Given the description of an element on the screen output the (x, y) to click on. 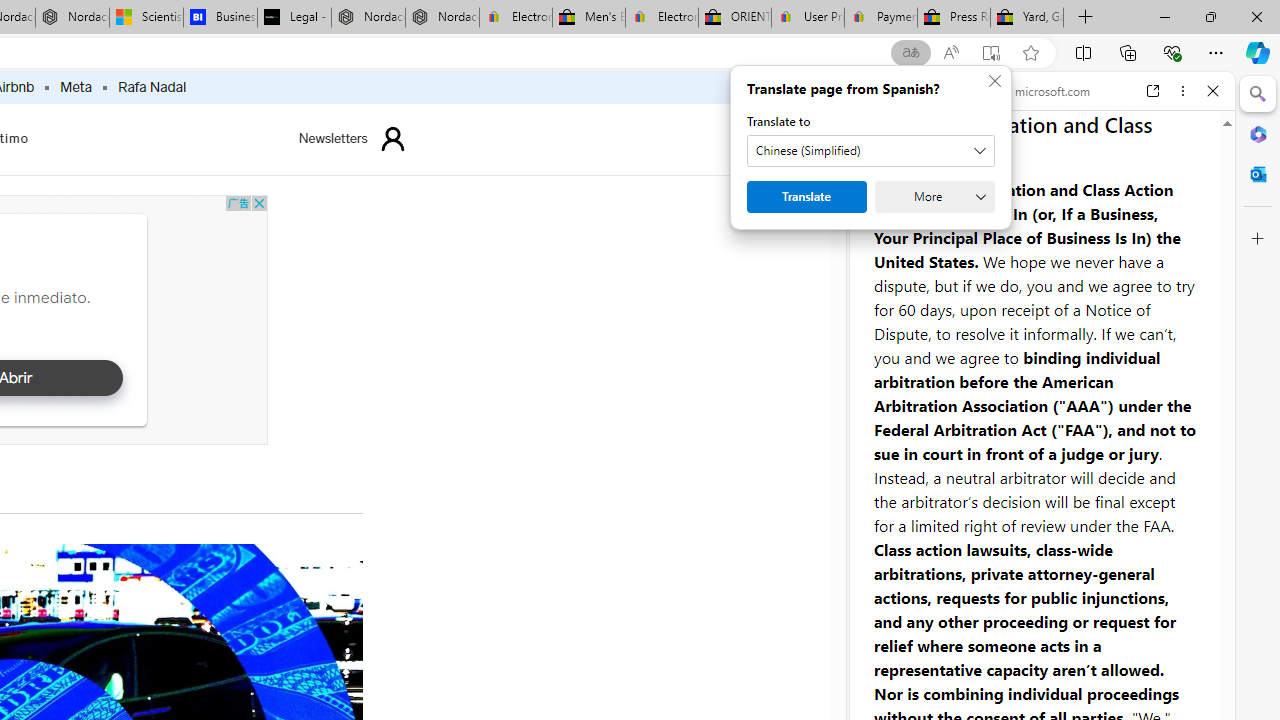
Yard, Garden & Outdoor Living (1026, 17)
microsoft.com (1045, 90)
